Given the description of an element on the screen output the (x, y) to click on. 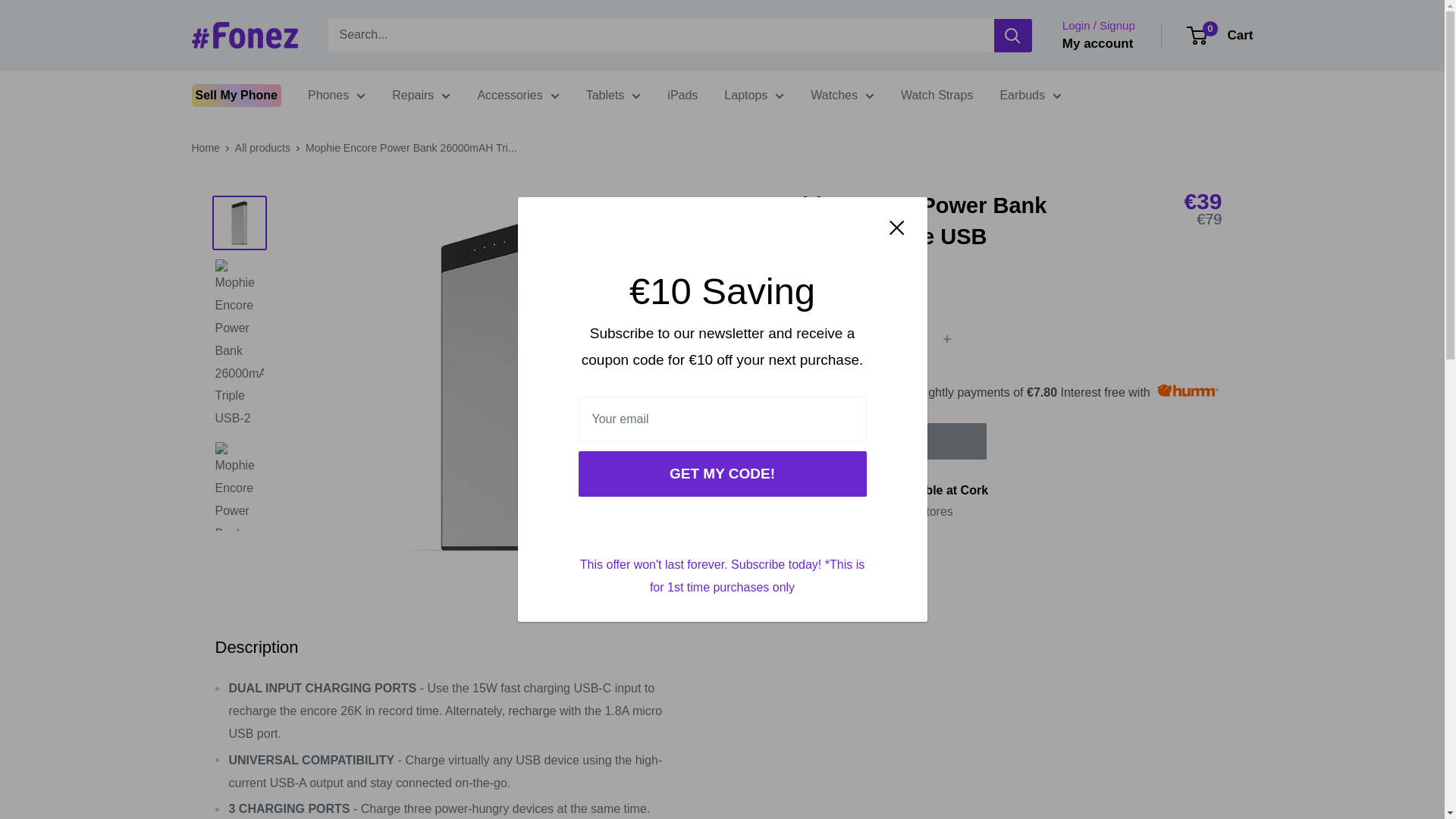
Increase quantity by 1 (946, 338)
1 (906, 338)
Decrease quantity by 1 (866, 338)
